Given the description of an element on the screen output the (x, y) to click on. 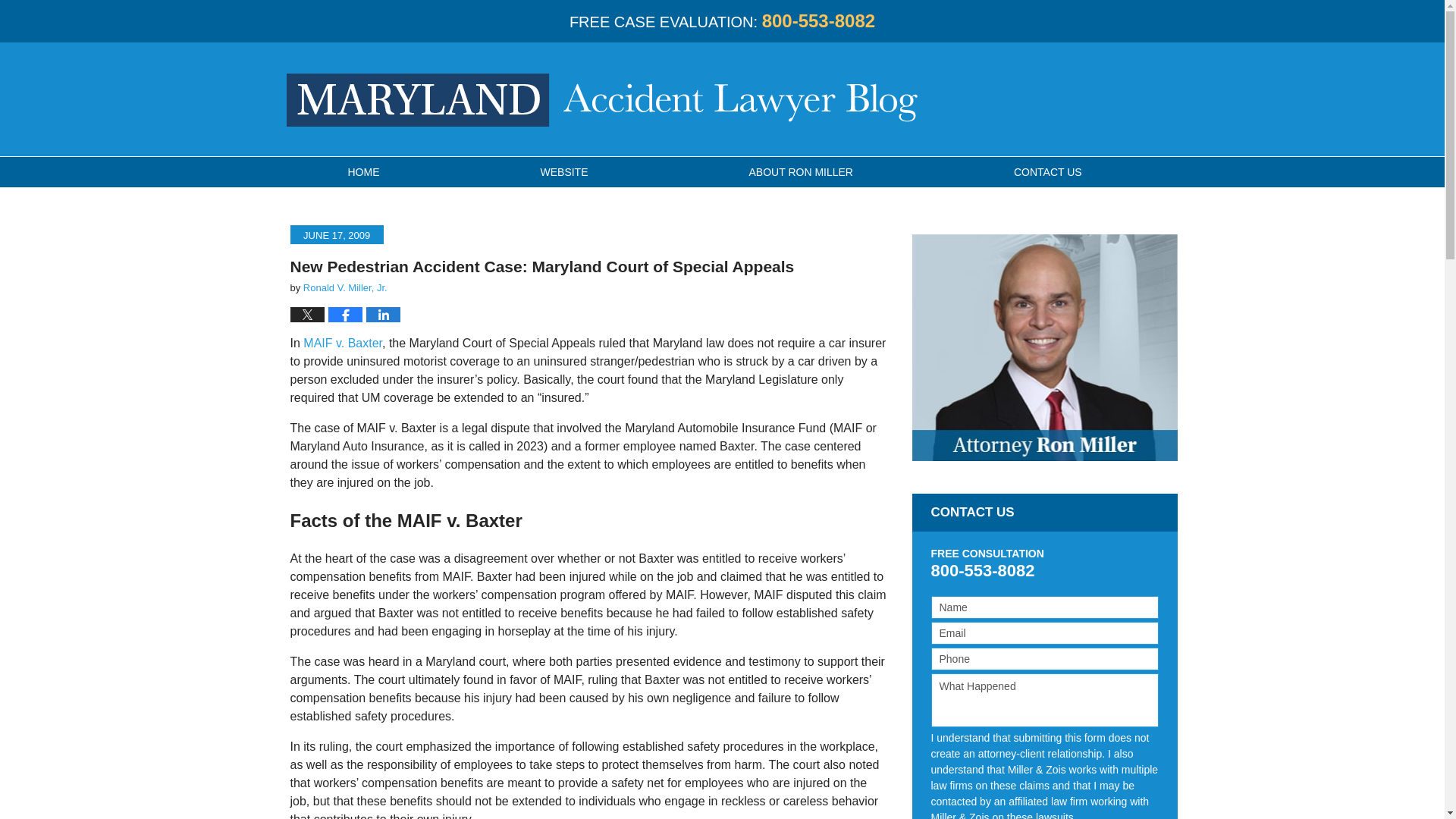
CONTACT US (1047, 172)
Maryland Accident Lawyer Blog (601, 99)
Ronald V. Miller, Jr. (344, 287)
Please enter a valid phone number. (1044, 658)
WEBSITE (564, 172)
MAIF v. Baxter (341, 342)
ABOUT RON MILLER (800, 172)
HOME (363, 172)
